Given the description of an element on the screen output the (x, y) to click on. 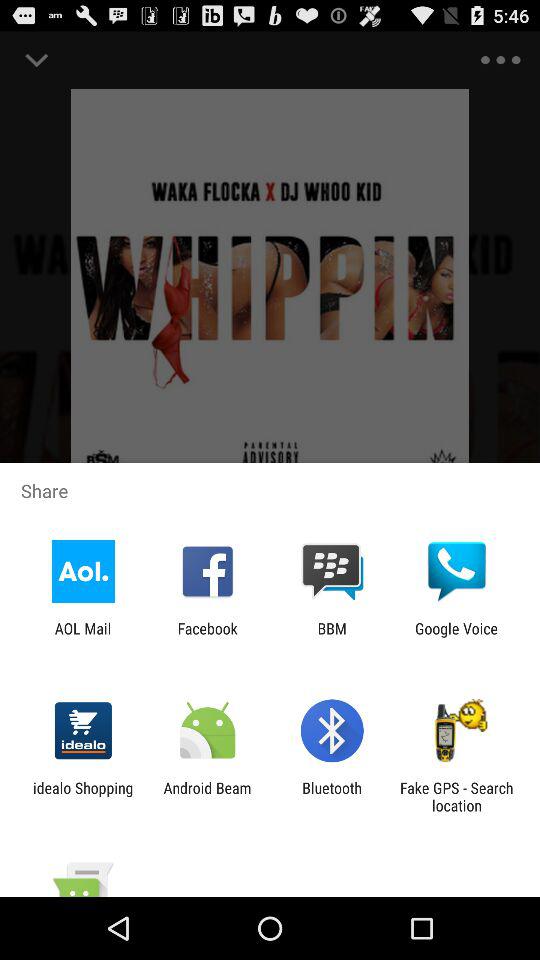
jump to idealo shopping app (83, 796)
